Given the description of an element on the screen output the (x, y) to click on. 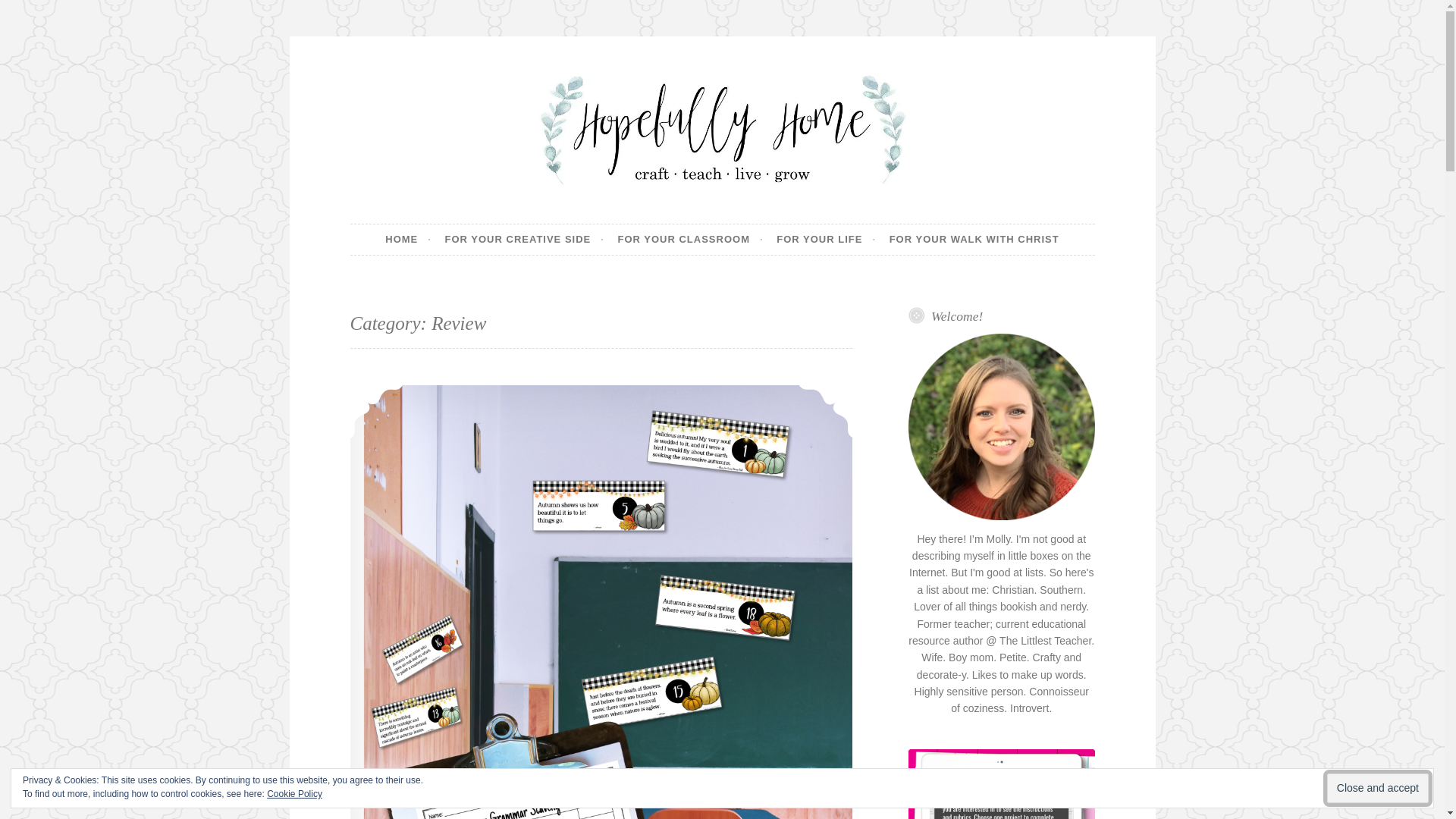
FOR YOUR LIFE (826, 239)
HOME (407, 239)
FOR YOUR WALK WITH CHRIST (974, 239)
Close and accept (1377, 788)
FOR YOUR CREATIVE SIDE (524, 239)
Hopefully Home (477, 223)
FOR YOUR CLASSROOM (689, 239)
